Given the description of an element on the screen output the (x, y) to click on. 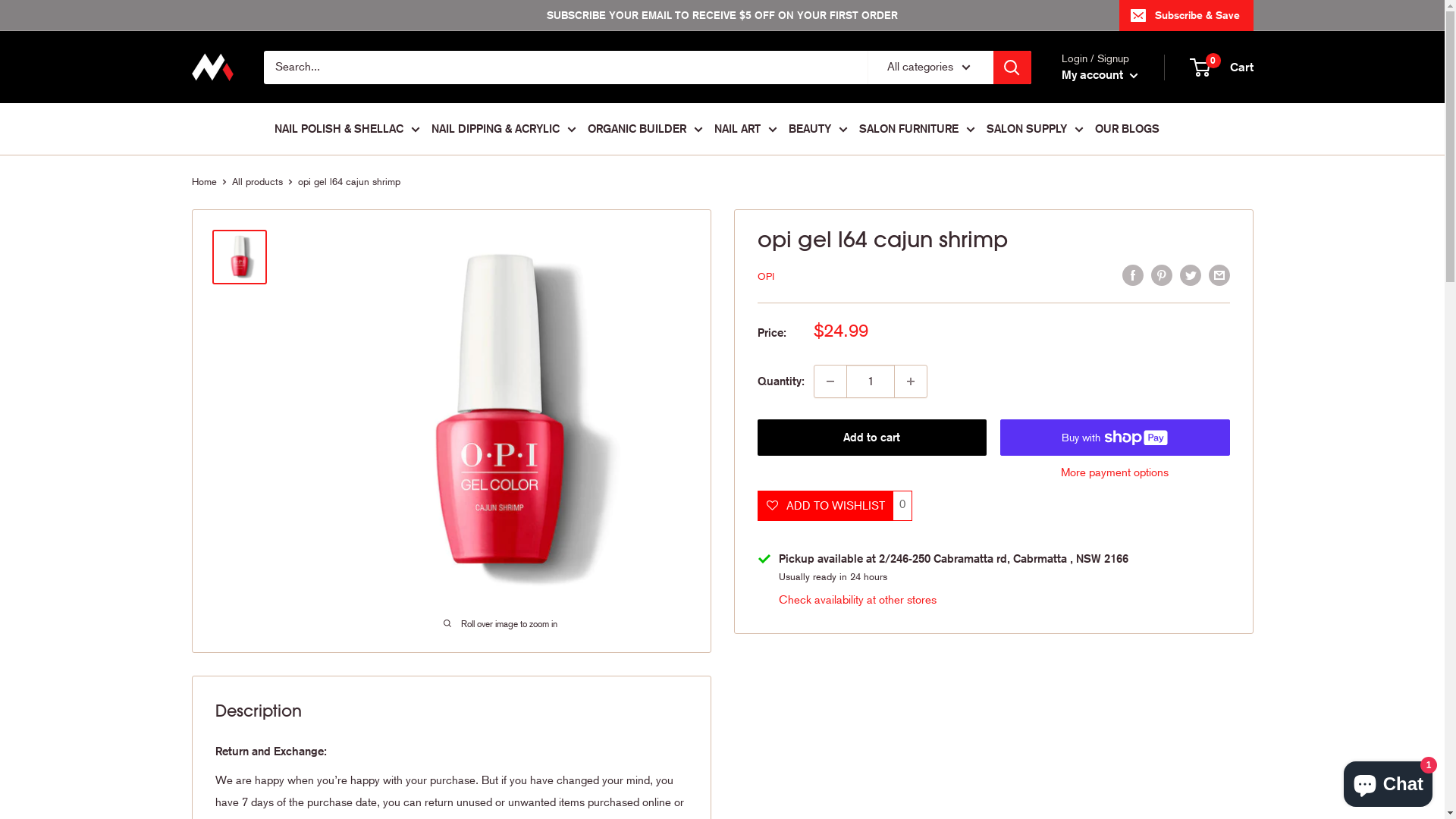
Subscribe & Save Element type: text (1186, 15)
All products Element type: text (257, 181)
NAIL DIPPING & ACRYLIC Element type: text (502, 128)
ORGANIC BUILDER Element type: text (644, 128)
Decrease quantity by 1 Element type: hover (830, 381)
Home Element type: text (203, 181)
OPI Element type: text (764, 276)
Shopify online store chat Element type: hover (1388, 780)
SALON FURNITURE Element type: text (916, 128)
BEAUTY Element type: text (817, 128)
Check availability at other stores Element type: text (856, 599)
SALON SUPPLY Element type: text (1033, 128)
My account Element type: text (1099, 74)
ADD TO WISHLIST Element type: text (823, 505)
Add to cart Element type: text (871, 437)
NAIL ART Element type: text (745, 128)
More payment options Element type: text (1115, 472)
NAIL POLISH & SHELLAC Element type: text (347, 128)
OUR BLOGS Element type: text (1127, 128)
0
Cart Element type: text (1221, 67)
Increase quantity by 1 Element type: hover (910, 381)
SUBSCRIBE YOUR EMAIL TO RECEIVE $5 OFF ON YOUR FIRST ORDER Element type: text (654, 15)
